Given the description of an element on the screen output the (x, y) to click on. 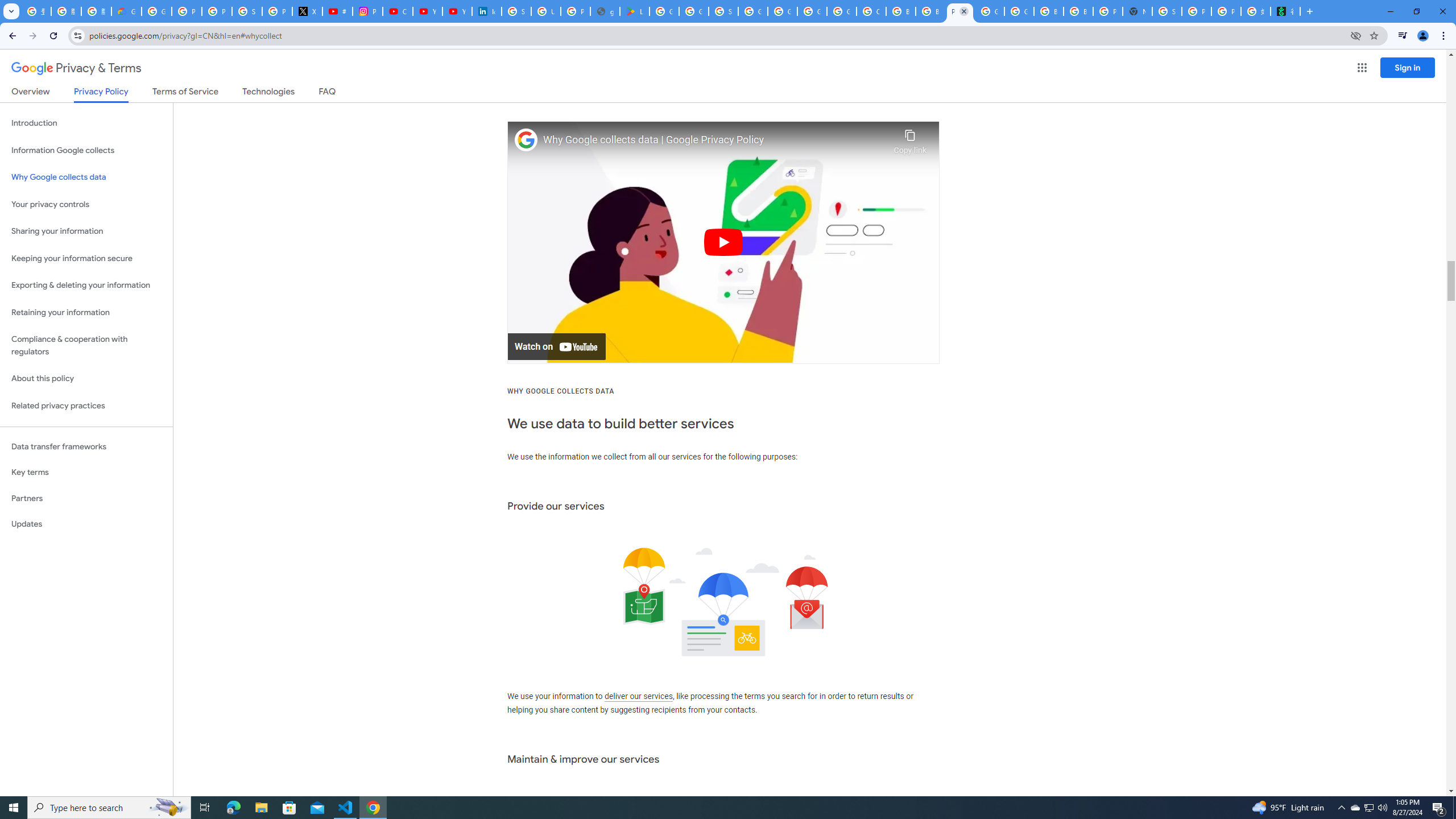
Browse Chrome as a guest - Computer - Google Chrome Help (1048, 11)
Browse Chrome as a guest - Computer - Google Chrome Help (1077, 11)
Watch on YouTube (556, 346)
Why Google collects data (86, 176)
Related privacy practices (86, 405)
Updates (86, 524)
Sign in - Google Accounts (515, 11)
Sign in - Google Accounts (247, 11)
